Given the description of an element on the screen output the (x, y) to click on. 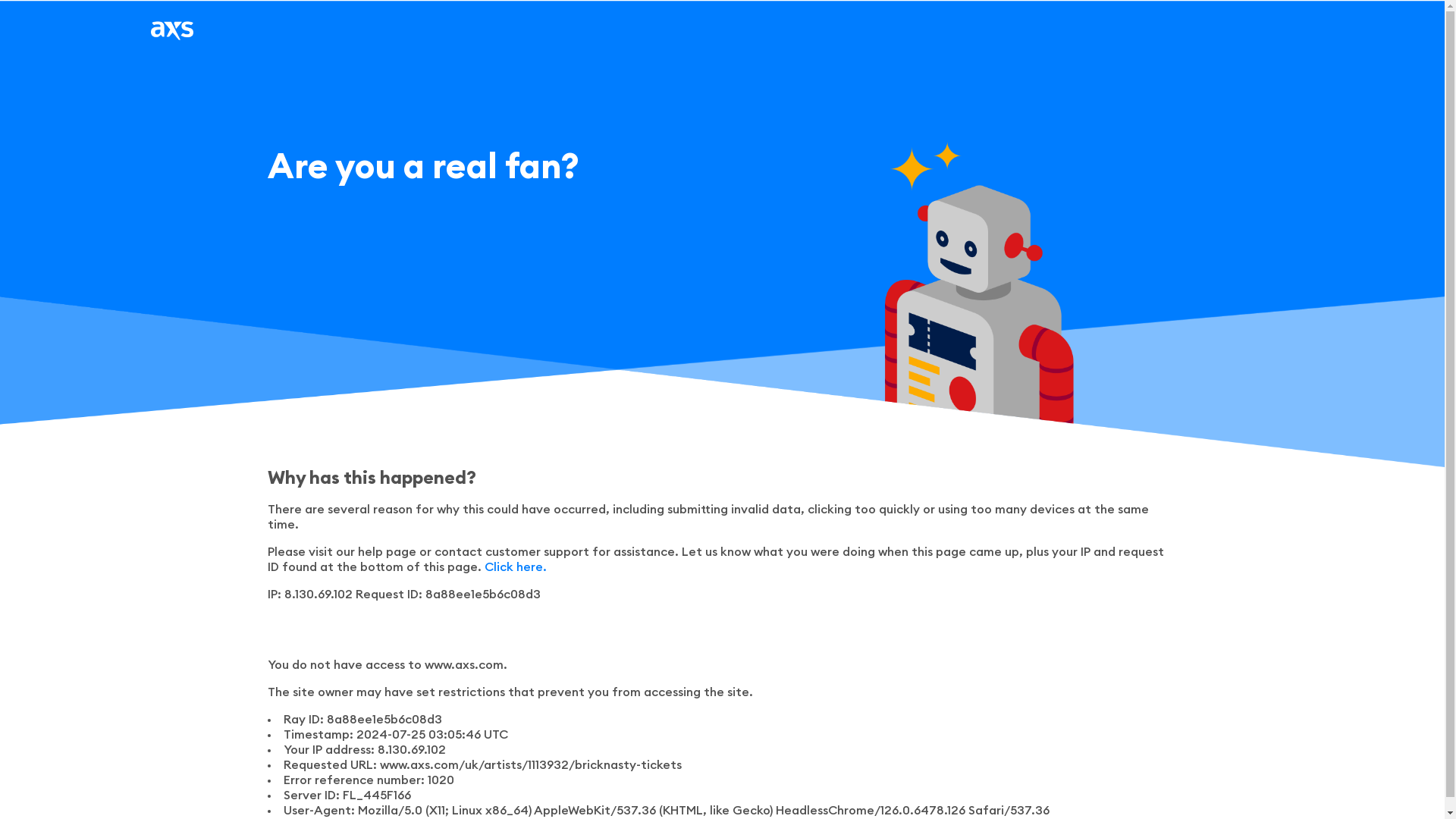
Click here. (514, 567)
